Given the description of an element on the screen output the (x, y) to click on. 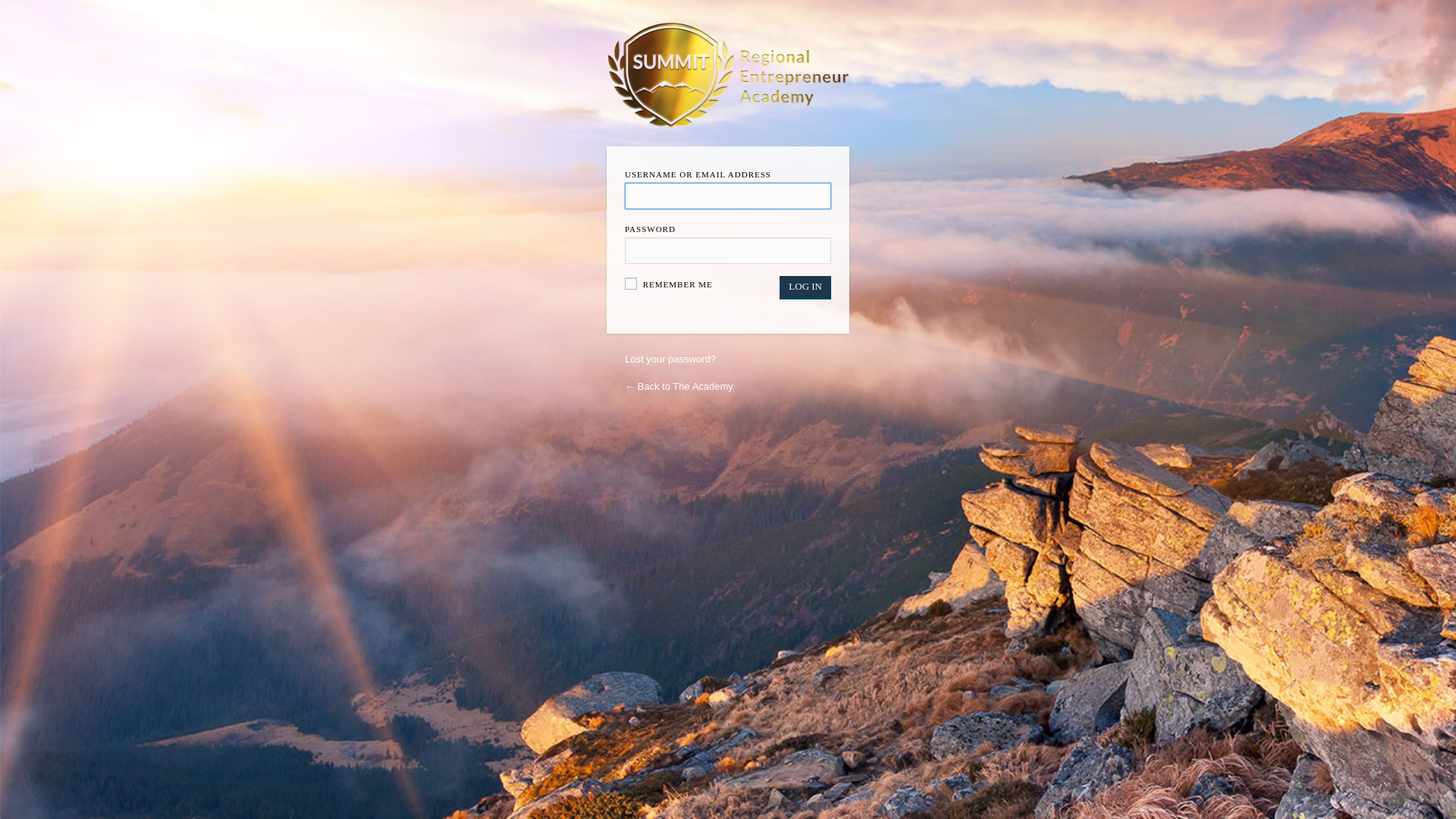
The Academy Element type: text (727, 74)
Log In Element type: text (805, 287)
Lost your password? Element type: text (669, 358)
